Given the description of an element on the screen output the (x, y) to click on. 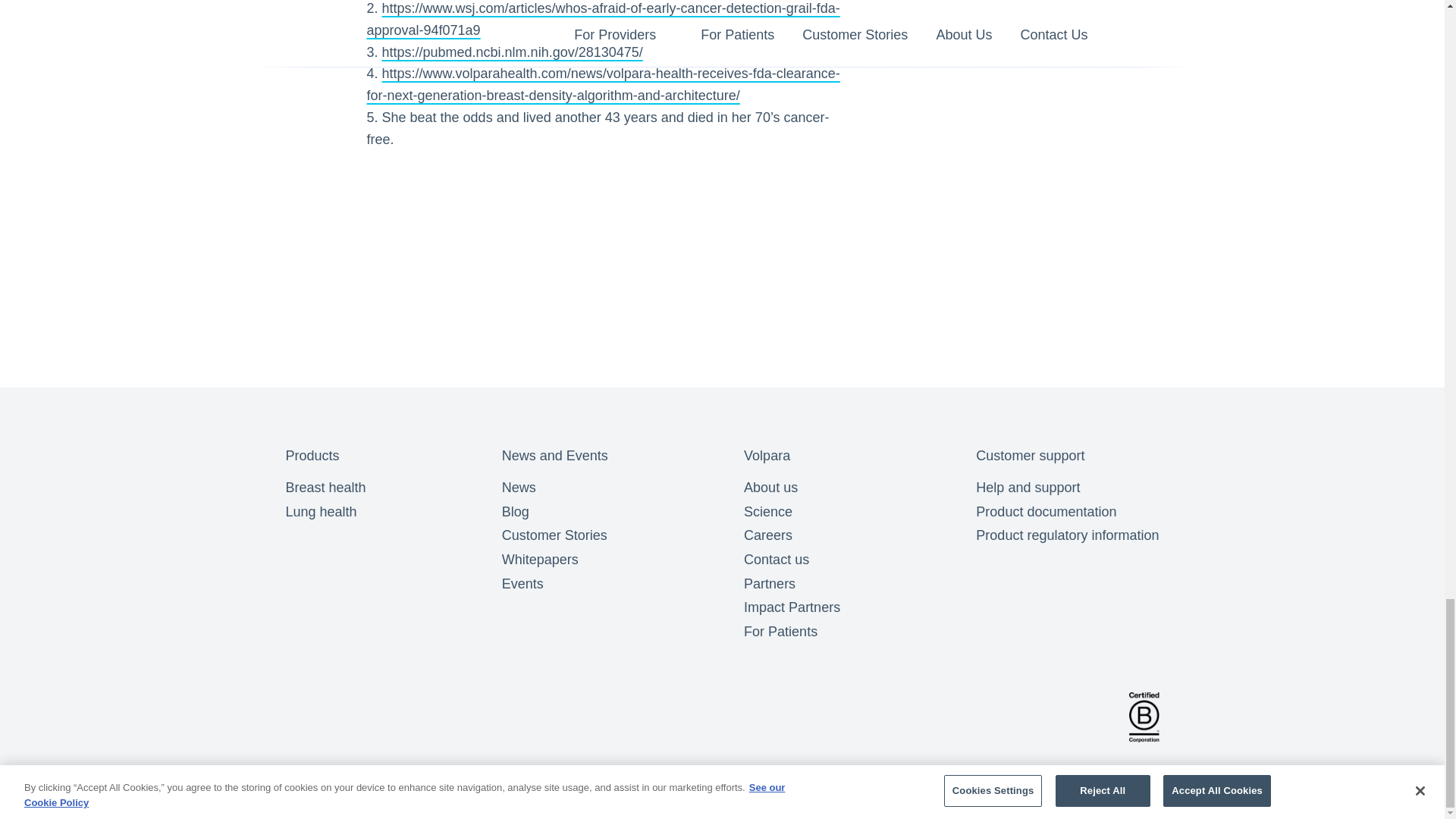
Facebook company logo (302, 717)
Twitter company logo (392, 717)
LinkedIn Corporation logo (347, 717)
